Given the description of an element on the screen output the (x, y) to click on. 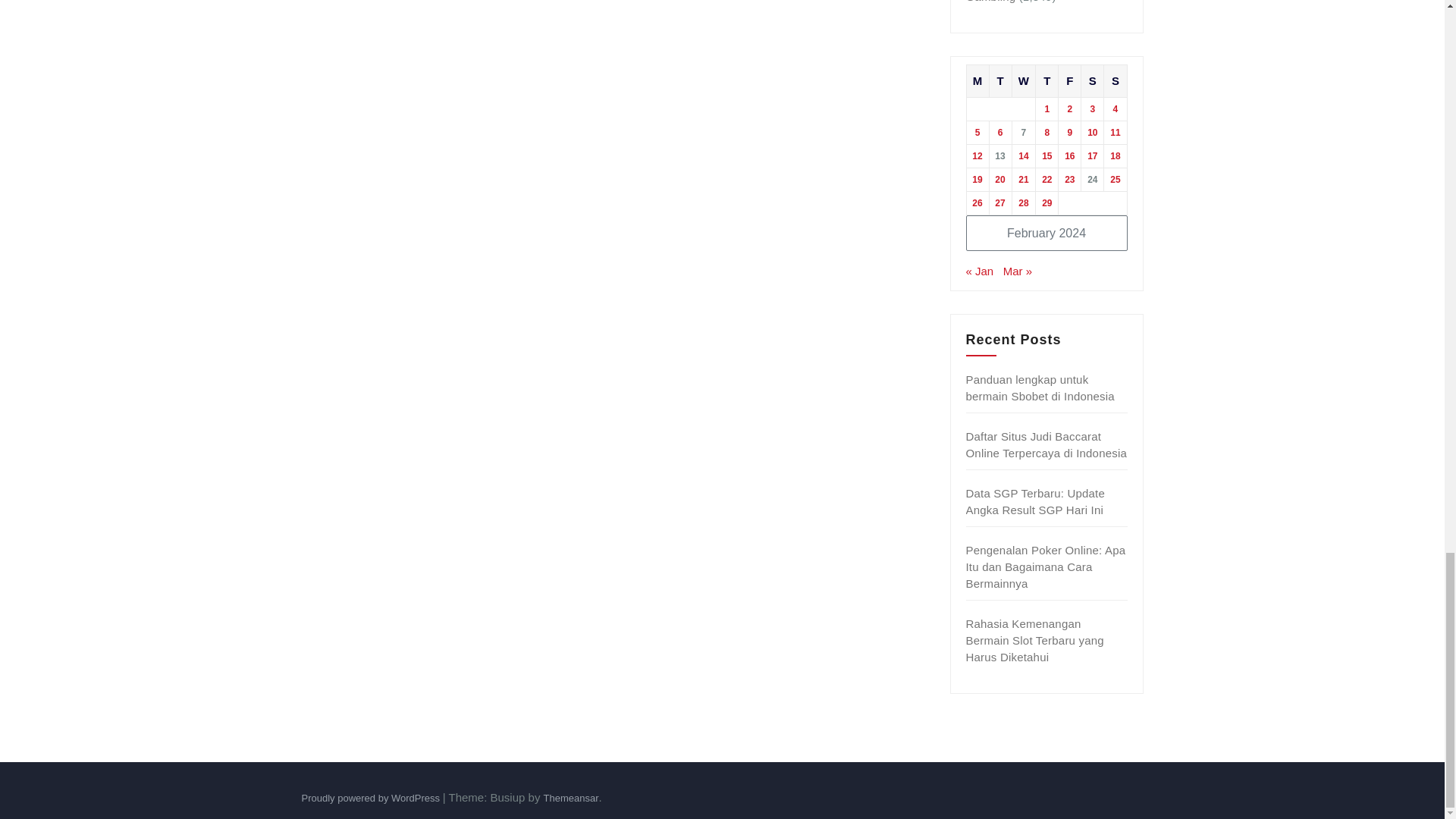
Saturday (1092, 80)
Sunday (1114, 80)
Thursday (1046, 80)
Friday (1069, 80)
Tuesday (999, 80)
Wednesday (1023, 80)
Monday (977, 80)
